Given the description of an element on the screen output the (x, y) to click on. 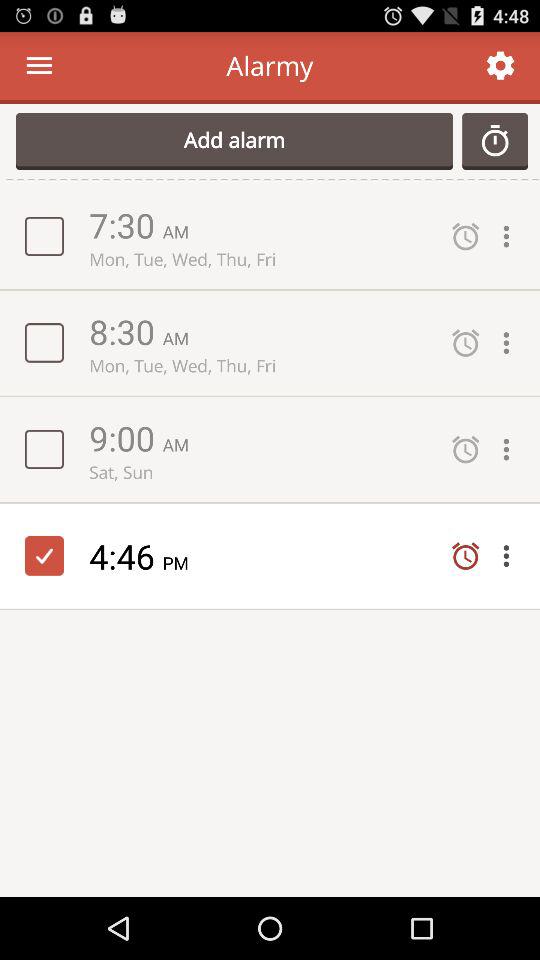
choose add alarm item (234, 141)
